Given the description of an element on the screen output the (x, y) to click on. 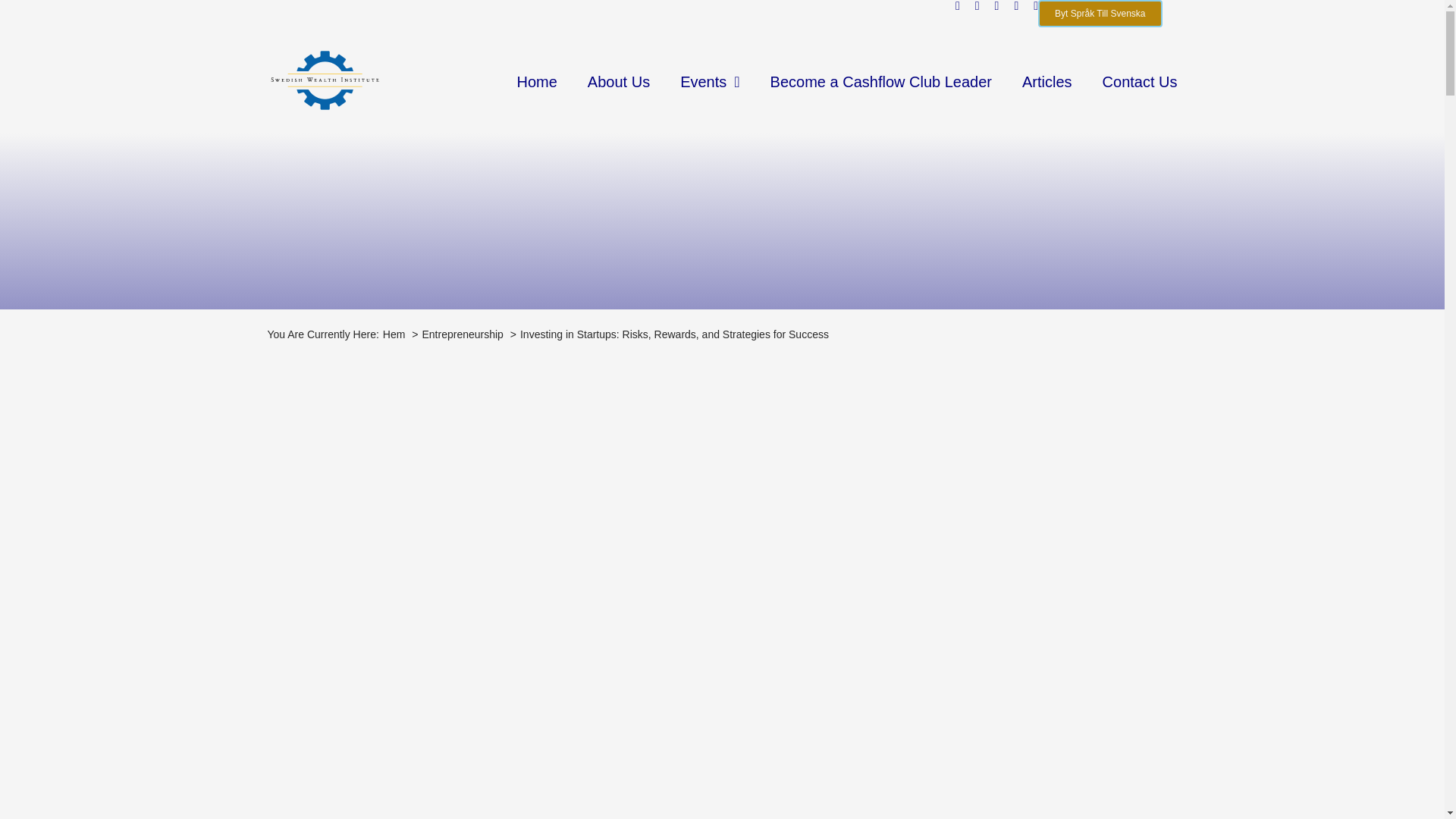
Entrepreneurship (462, 334)
Hem (394, 334)
Become a Cashflow Club Leader (880, 79)
Events (709, 79)
Contact Us (1139, 79)
About Us (618, 79)
